Given the description of an element on the screen output the (x, y) to click on. 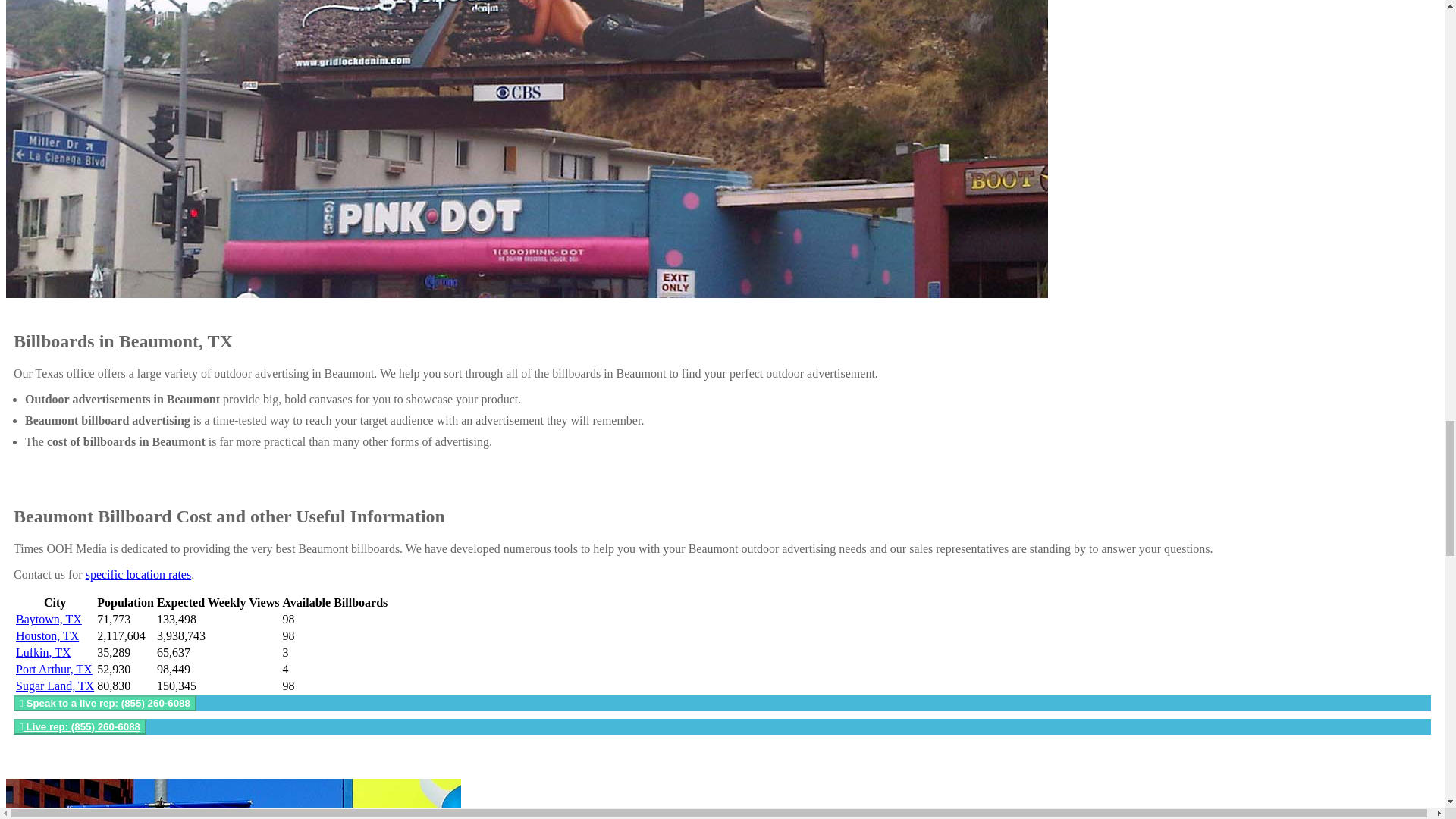
Baytown, TX (48, 618)
specific location rates (138, 574)
Port Arthur, TX (54, 668)
Lufkin, TX (43, 652)
Sugar Land, TX (55, 685)
Houston, TX (47, 635)
